Given the description of an element on the screen output the (x, y) to click on. 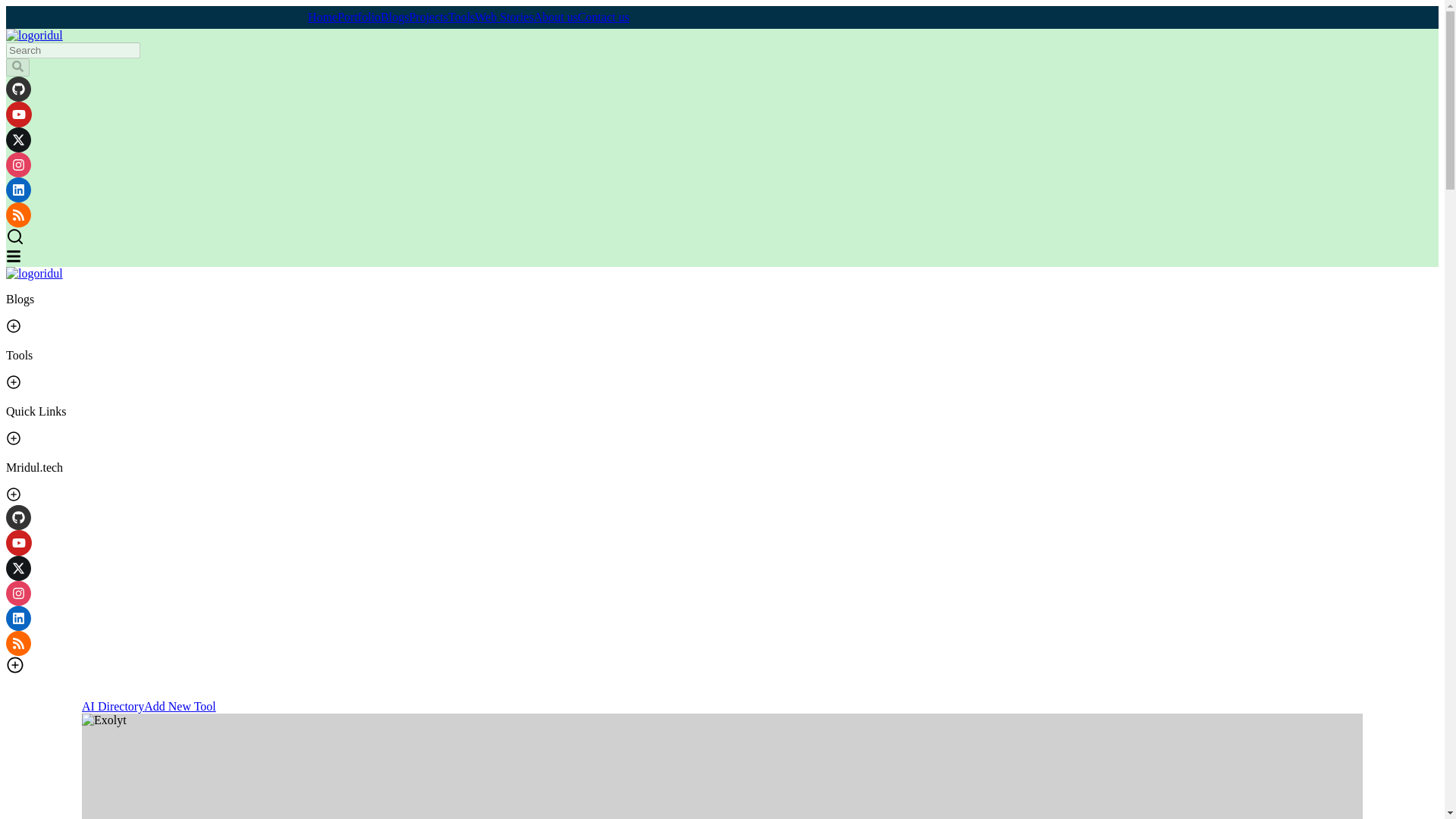
Home (322, 17)
mridul.tech (33, 34)
Projects (428, 17)
AI Directory (112, 706)
Contact us (603, 17)
mridul.tech (33, 273)
About us (556, 17)
Portfolio (358, 17)
Web Stories (503, 17)
ridul (33, 34)
ridul (33, 273)
Blogs (394, 17)
Add New Tool (179, 706)
Tools (461, 17)
